Given the description of an element on the screen output the (x, y) to click on. 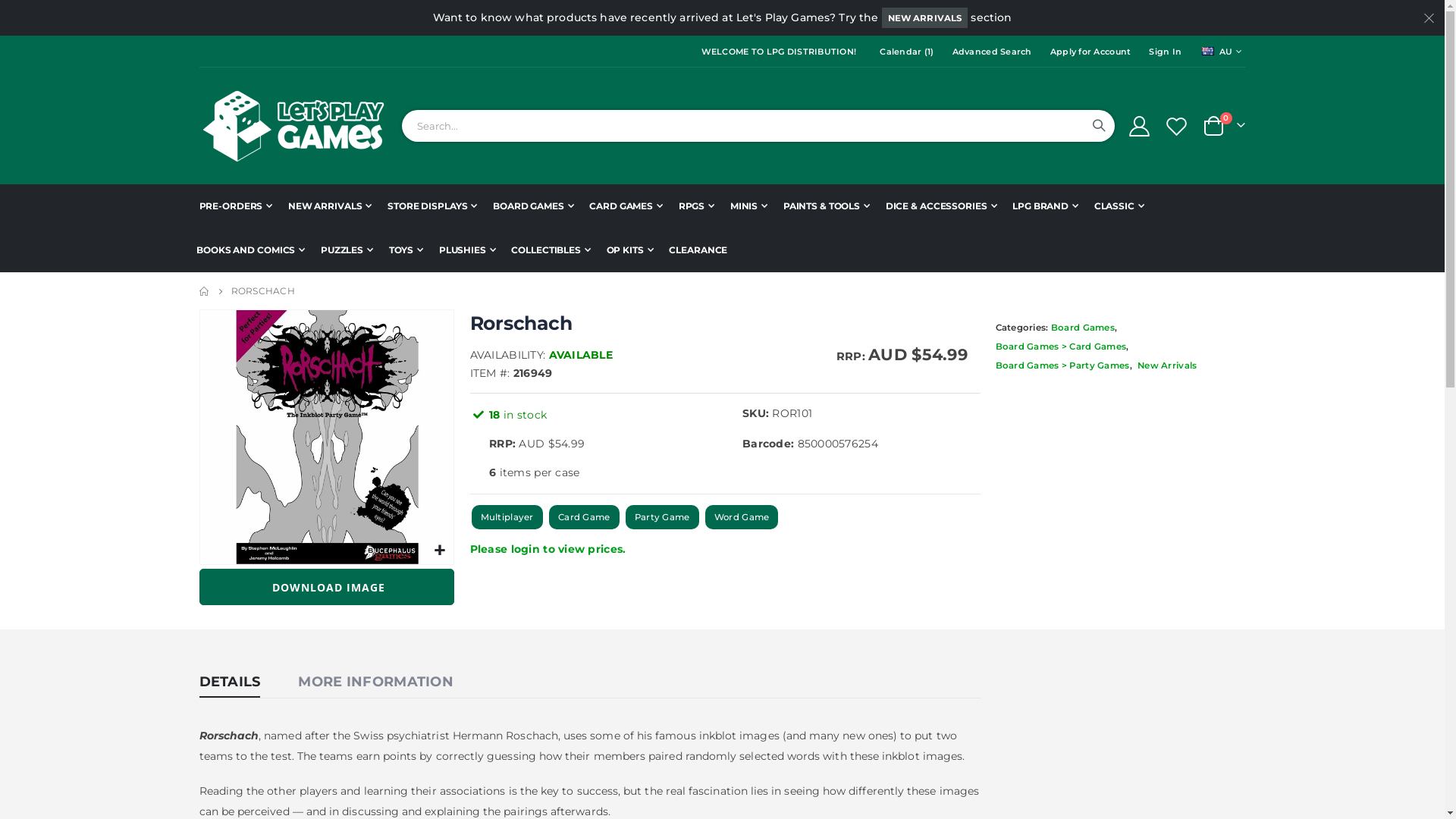
PLUSHIES Element type: text (467, 250)
PRE-ORDERS Element type: text (235, 206)
Board Games > Party Games Element type: text (1062, 365)
Party Game Element type: text (662, 517)
OP KITS Element type: text (629, 250)
Cart
0 Element type: text (1223, 125)
BOARD GAMES Element type: text (533, 206)
CLEARANCE Element type: text (697, 250)
Please login to view prices. Element type: text (548, 548)
HOME Element type: text (203, 291)
My Account Element type: hover (1138, 126)
Board Games Element type: text (1055, 327)
Board Games > Card Games Element type: text (1061, 346)
COLLECTIBLES Element type: text (550, 250)
NEW ARRIVALS Element type: text (924, 17)
DETAILS Element type: text (229, 681)
Card Game Element type: text (584, 517)
RPGS Element type: text (696, 206)
MORE INFORMATION Element type: text (375, 681)
Wishlist Element type: hover (1176, 126)
PUZZLES Element type: text (346, 250)
PAINTS & TOOLS Element type: text (826, 206)
Advanced Search Element type: text (989, 51)
DOWNLOAD IMAGE Element type: text (326, 586)
STORE DISPLAYS Element type: text (431, 206)
TOYS Element type: text (406, 250)
Word Game Element type: text (741, 517)
Search Element type: hover (1098, 125)
Let's Play Games logo Element type: hover (293, 125)
Multiplayer Element type: text (506, 517)
BOOKS AND COMICS Element type: text (250, 250)
New Arrivals Element type: text (1166, 365)
CARD GAMES Element type: text (625, 206)
Calendar (1) Element type: text (903, 51)
LPG BRAND Element type: text (1045, 206)
NEW ARRIVALS Element type: text (329, 206)
MINIS Element type: text (748, 206)
DICE & ACCESSORIES Element type: text (941, 206)
Sign In Element type: text (1161, 51)
Apply for Account Element type: text (1087, 51)
CLASSIC Element type: text (1119, 206)
